Given the description of an element on the screen output the (x, y) to click on. 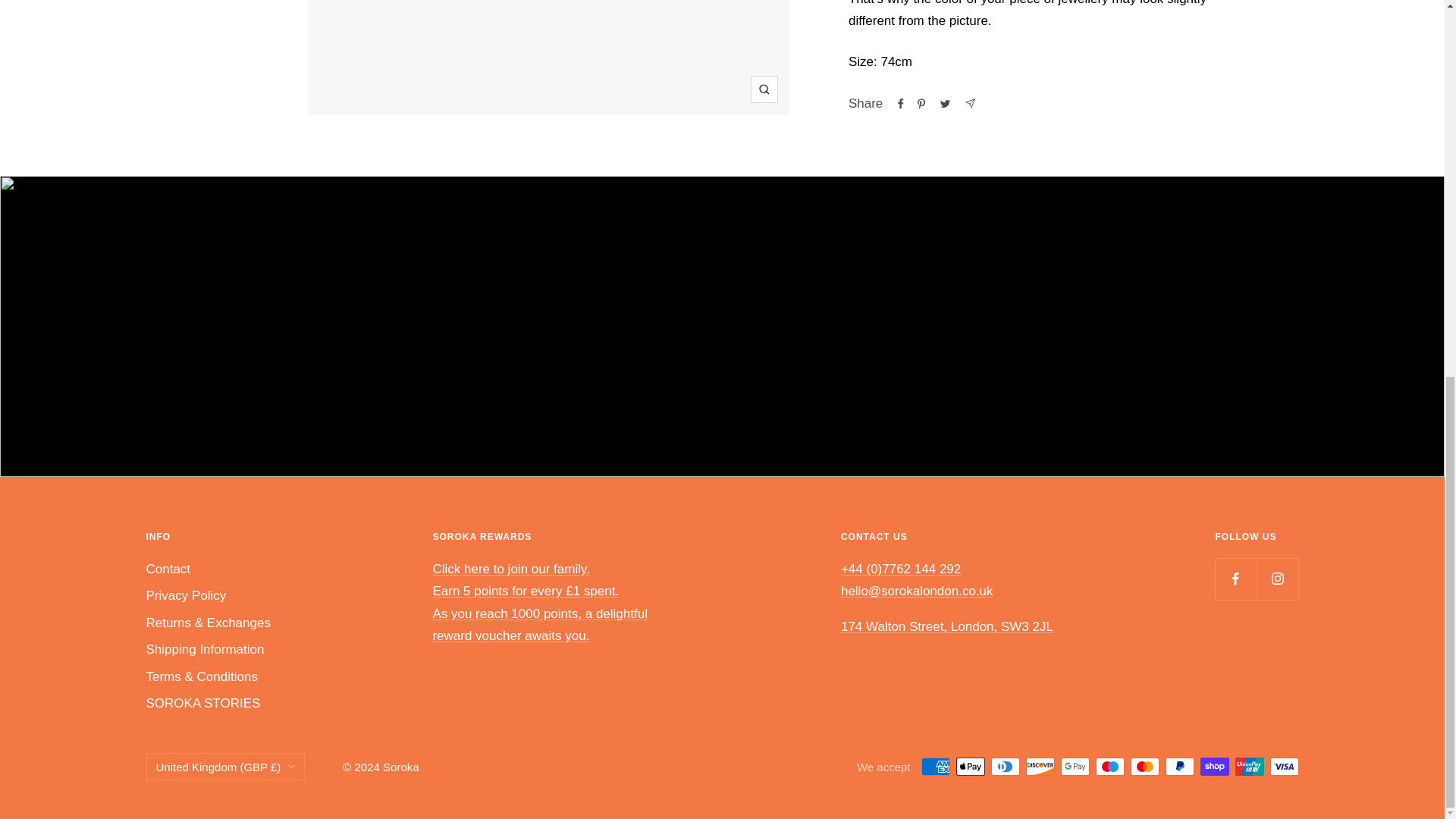
SOROKA REWARD PROGRAM  (539, 601)
Zoom (764, 89)
Soroka London Address (946, 626)
